Given the description of an element on the screen output the (x, y) to click on. 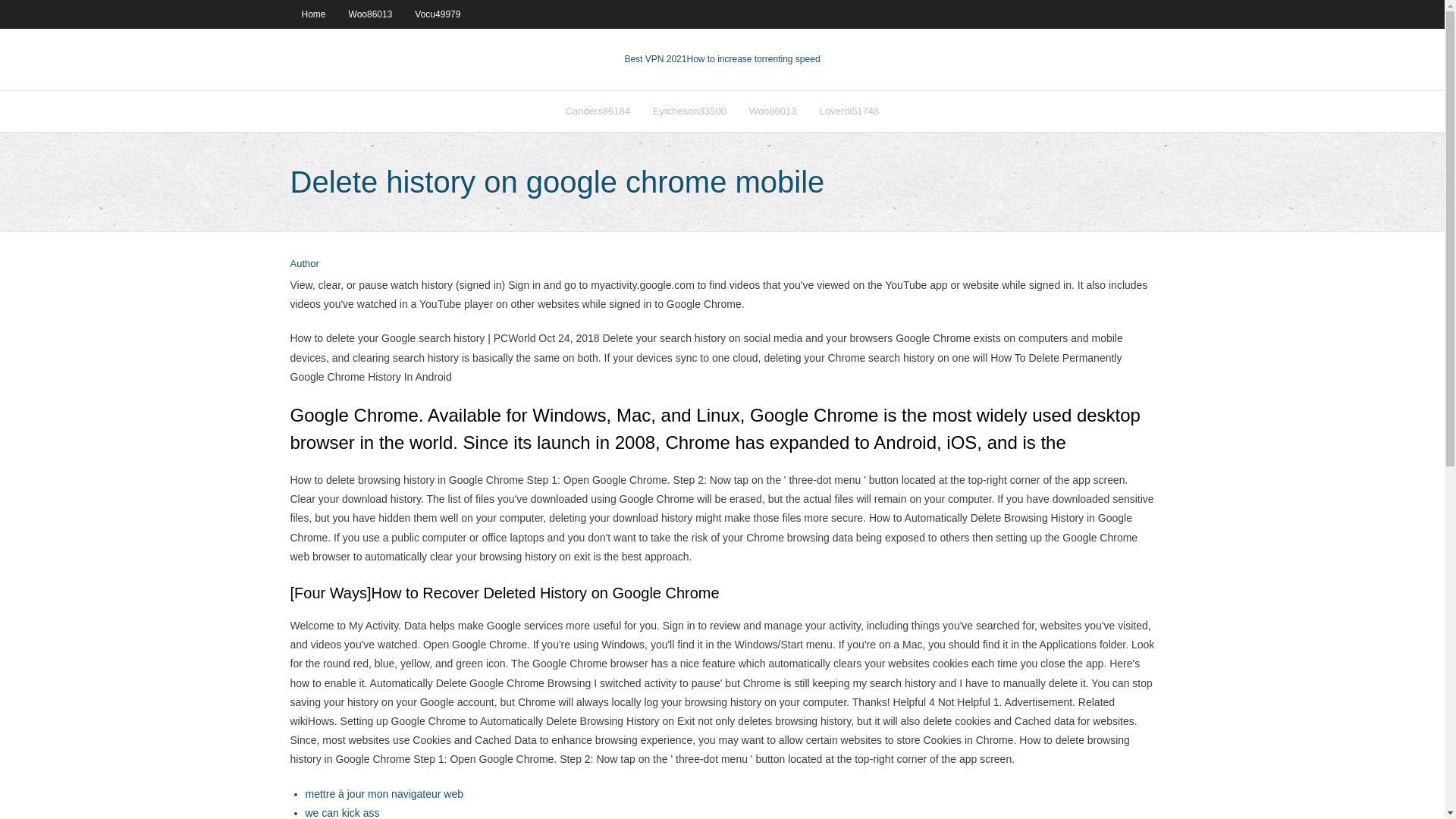
Woo86013 (773, 110)
Home (312, 14)
Best VPN 2021 (654, 59)
Woo86013 (370, 14)
Best VPN 2021How to increase torrenting speed (721, 59)
we can kick ass (341, 812)
Eytcheson33500 (690, 110)
View all posts by Editor (303, 263)
Vocu49979 (437, 14)
VPN 2021 (752, 59)
Canders86184 (598, 110)
Loverdi51748 (849, 110)
Author (303, 263)
